Given the description of an element on the screen output the (x, y) to click on. 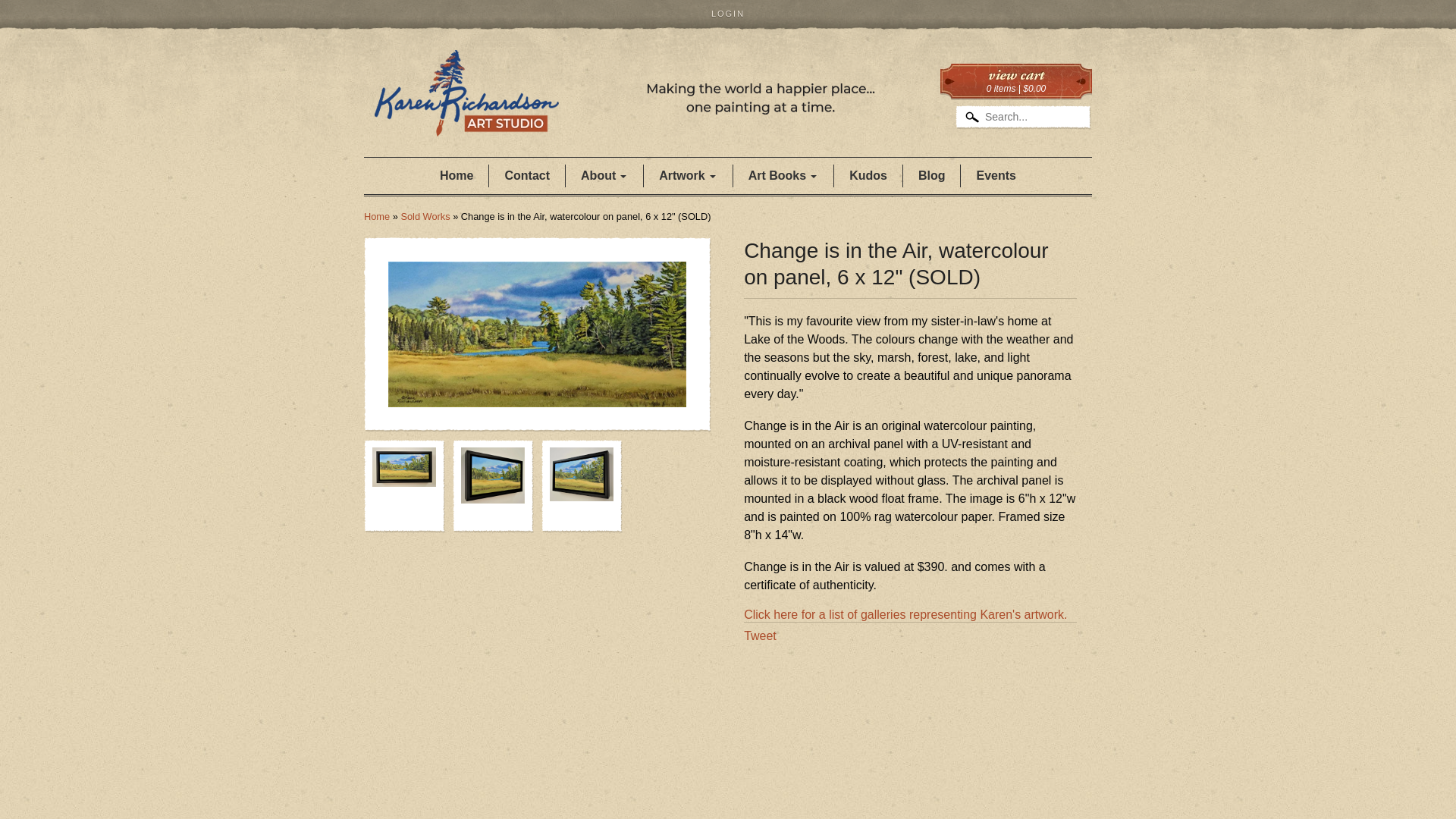
Sold Works (424, 215)
Contact (526, 175)
Home (377, 215)
Events (995, 175)
Find artwork by Karen Richardson at these galleries. (907, 614)
Art Books (782, 175)
Tweet (760, 635)
Kudos (868, 175)
Home (629, 113)
